Given the description of an element on the screen output the (x, y) to click on. 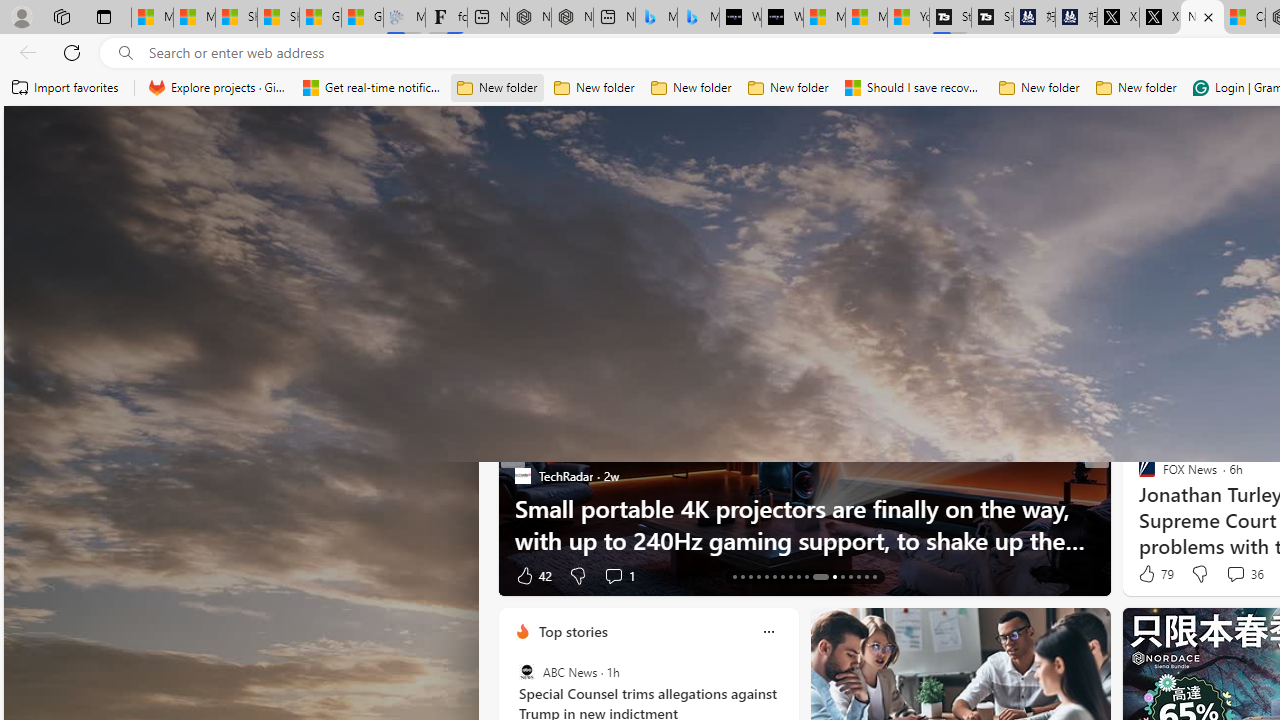
Close tab (1208, 16)
79 Like (1154, 574)
Gaming (945, 265)
Play (818, 267)
AutomationID: tab-16 (757, 576)
10 Like (1149, 574)
News (701, 265)
MSNBC (1138, 507)
Watch (1089, 267)
AutomationID: tab-17 (765, 576)
Should I save recovered Word documents? - Microsoft Support (913, 88)
Sports (761, 267)
ABC News (526, 672)
AutomationID: tab-38 (857, 576)
